Given the description of an element on the screen output the (x, y) to click on. 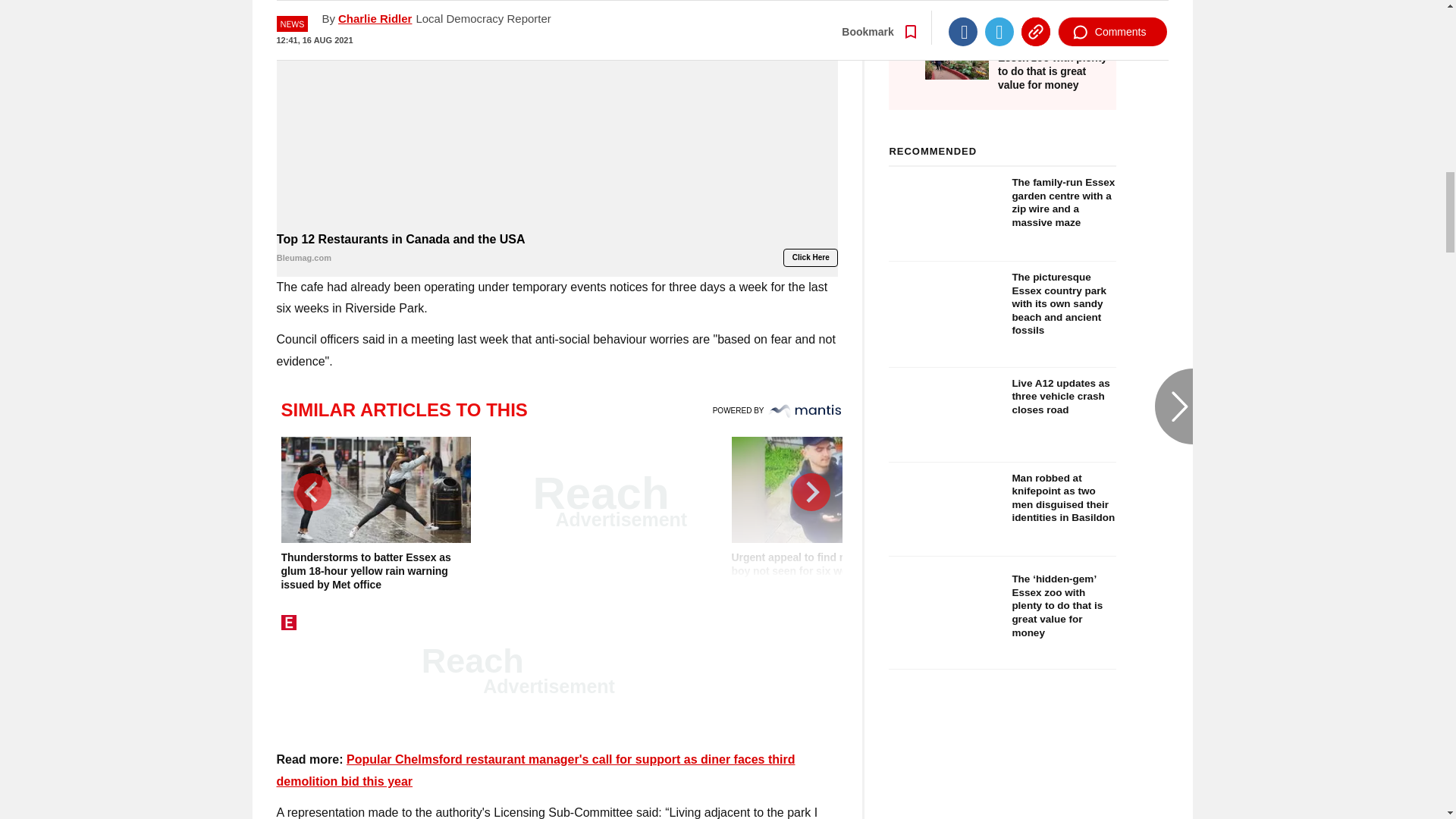
Top 12 Restaurants in Canada and the USA (557, 113)
Top 12 Restaurants in Canada and the USA (557, 248)
